Given the description of an element on the screen output the (x, y) to click on. 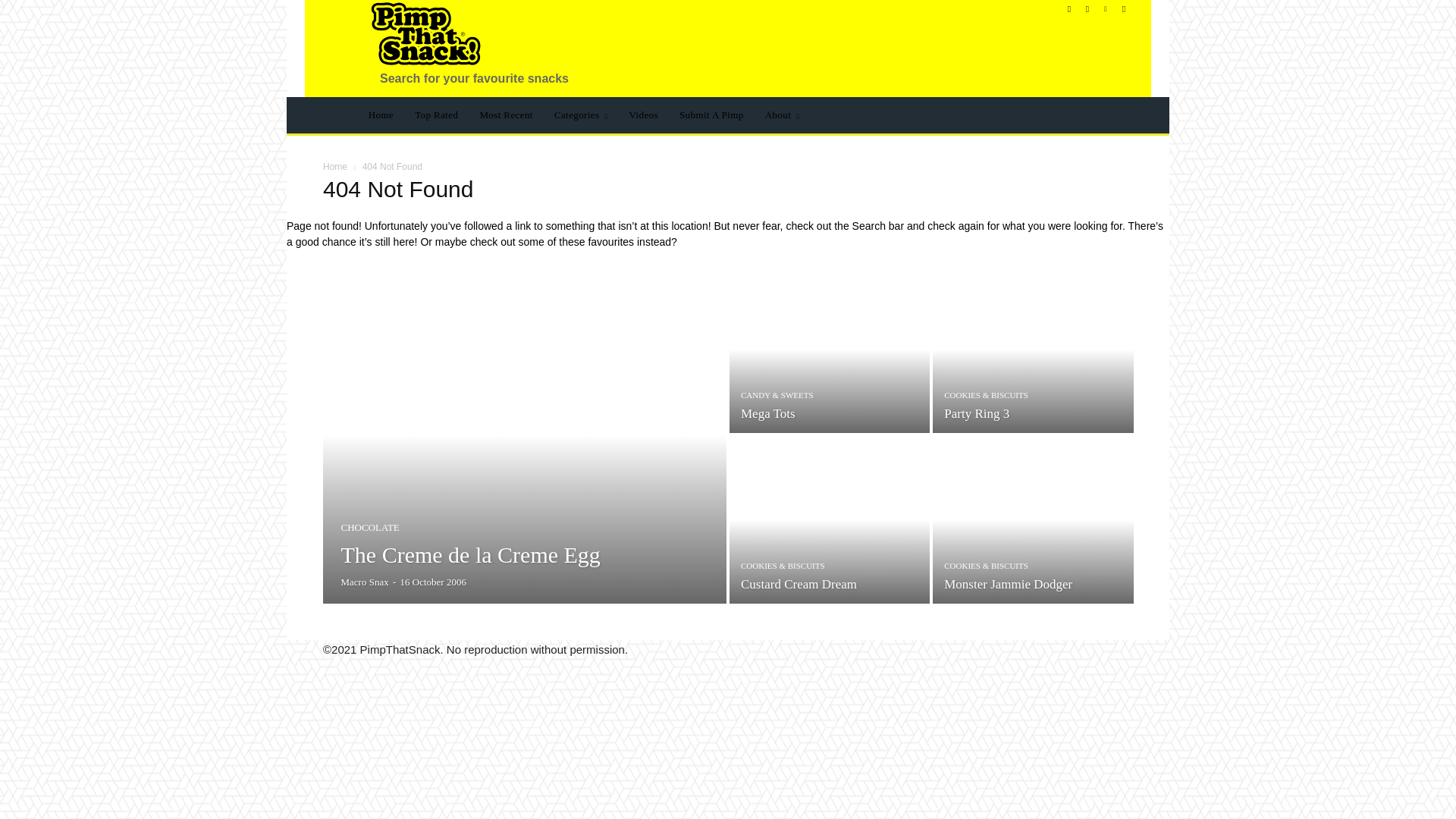
Custard Cream Dream (829, 519)
Pimp That Snack (426, 33)
Mega Tots (829, 349)
Monster Jammie Dodger (1032, 519)
Custard Cream Dream (799, 584)
Party Ring 3 (1032, 349)
Monster Jammie Dodger (1007, 584)
Party Ring 3 (976, 413)
Mega Tots (767, 413)
